Given the description of an element on the screen output the (x, y) to click on. 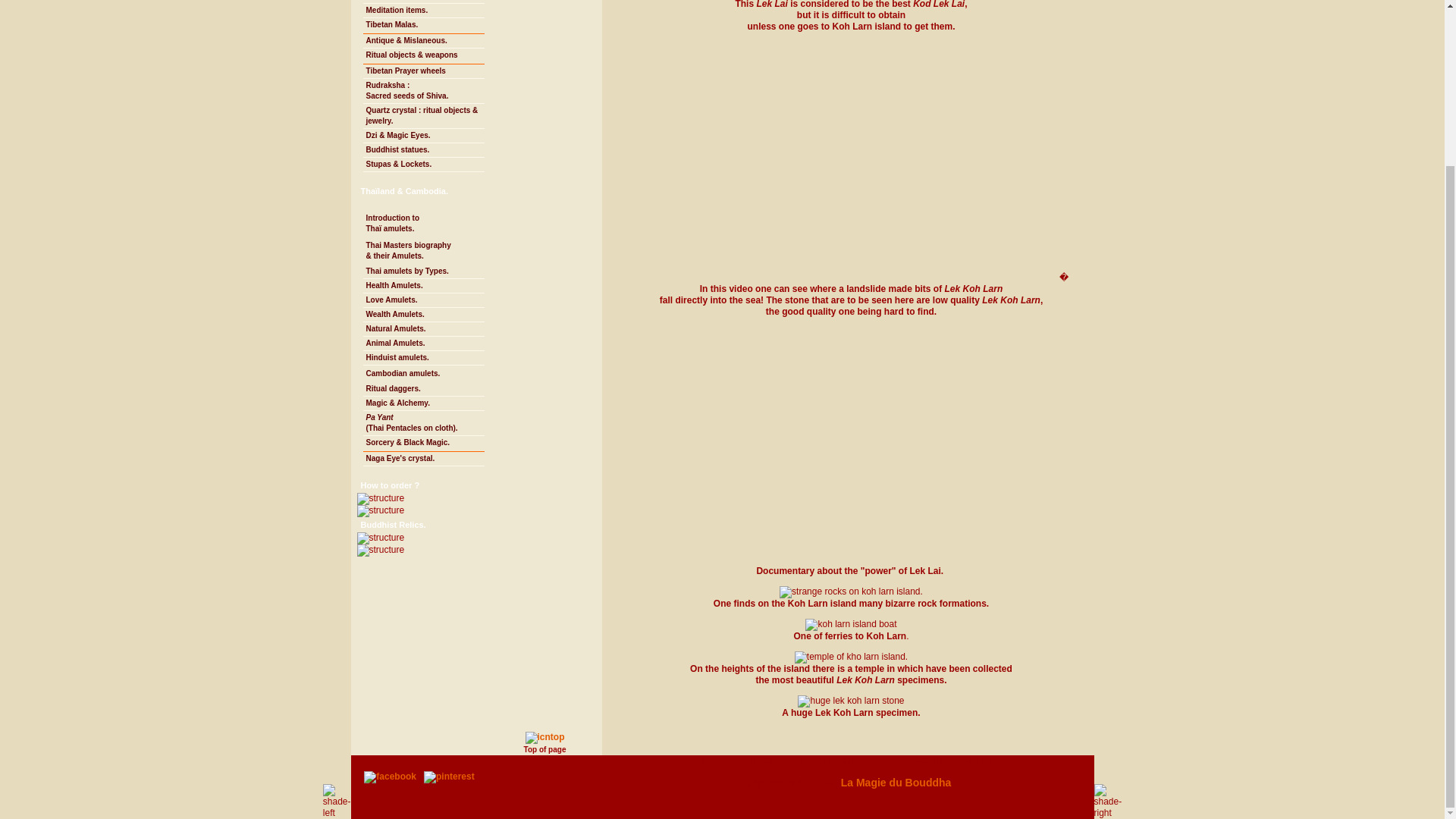
Tibetan amulets. (422, 2)
Thai amulets by Types. (422, 271)
Buddhist statues. (422, 150)
Tibetan Malas. (422, 26)
Love Amulets. (422, 300)
How to order ? (422, 91)
Meditation items. (390, 483)
Natural Amulets. (422, 11)
Buddhist Relics. (422, 329)
